Given the description of an element on the screen output the (x, y) to click on. 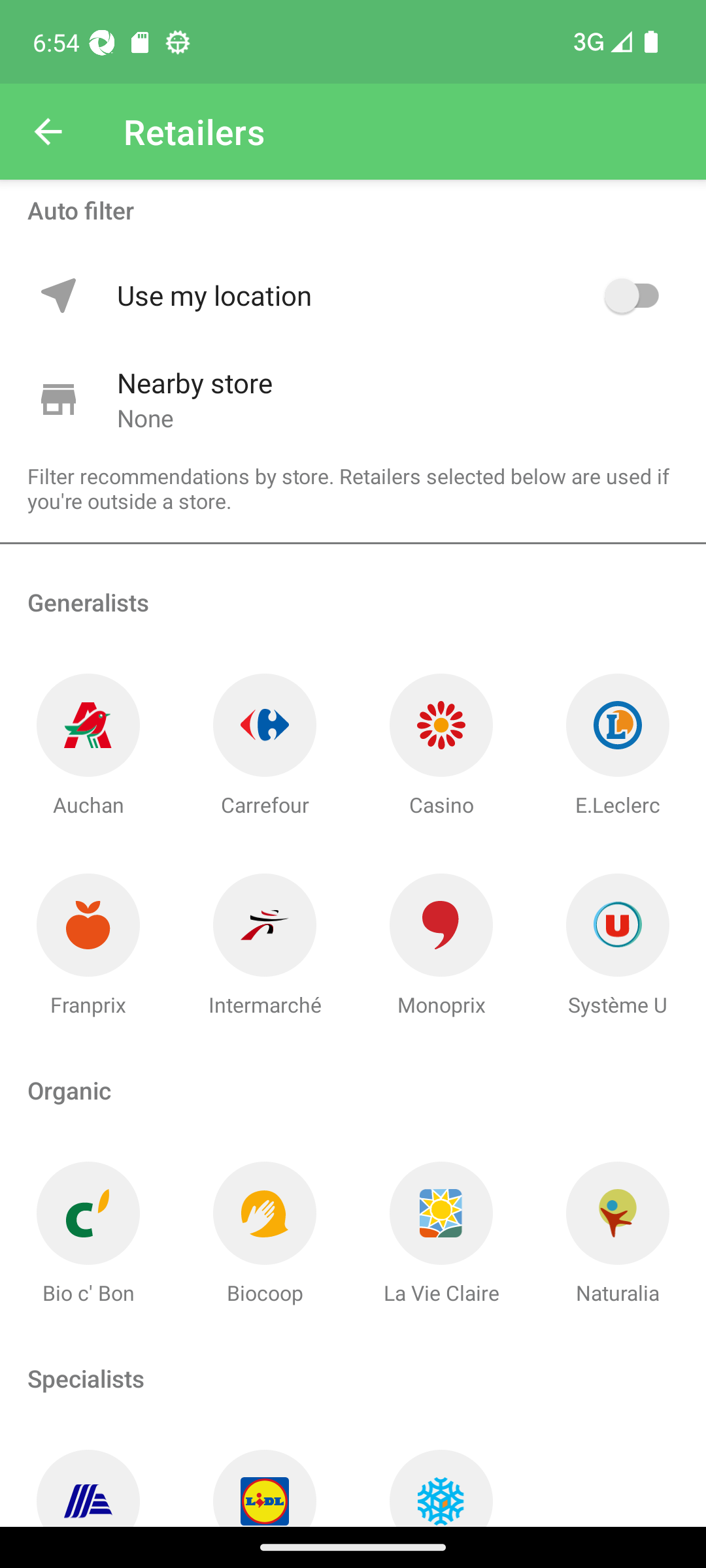
Navigate up (48, 131)
Use my location OFF (390, 295)
Auchan (88, 746)
Carrefour (264, 746)
Casino (441, 746)
E.Leclerc (617, 746)
Franprix (88, 945)
Intermarché (264, 945)
Monoprix (441, 945)
Système U (617, 945)
Bio c' Bon (88, 1233)
Biocoop (264, 1233)
La Vie Claire (441, 1233)
Naturalia (617, 1233)
